Given the description of an element on the screen output the (x, y) to click on. 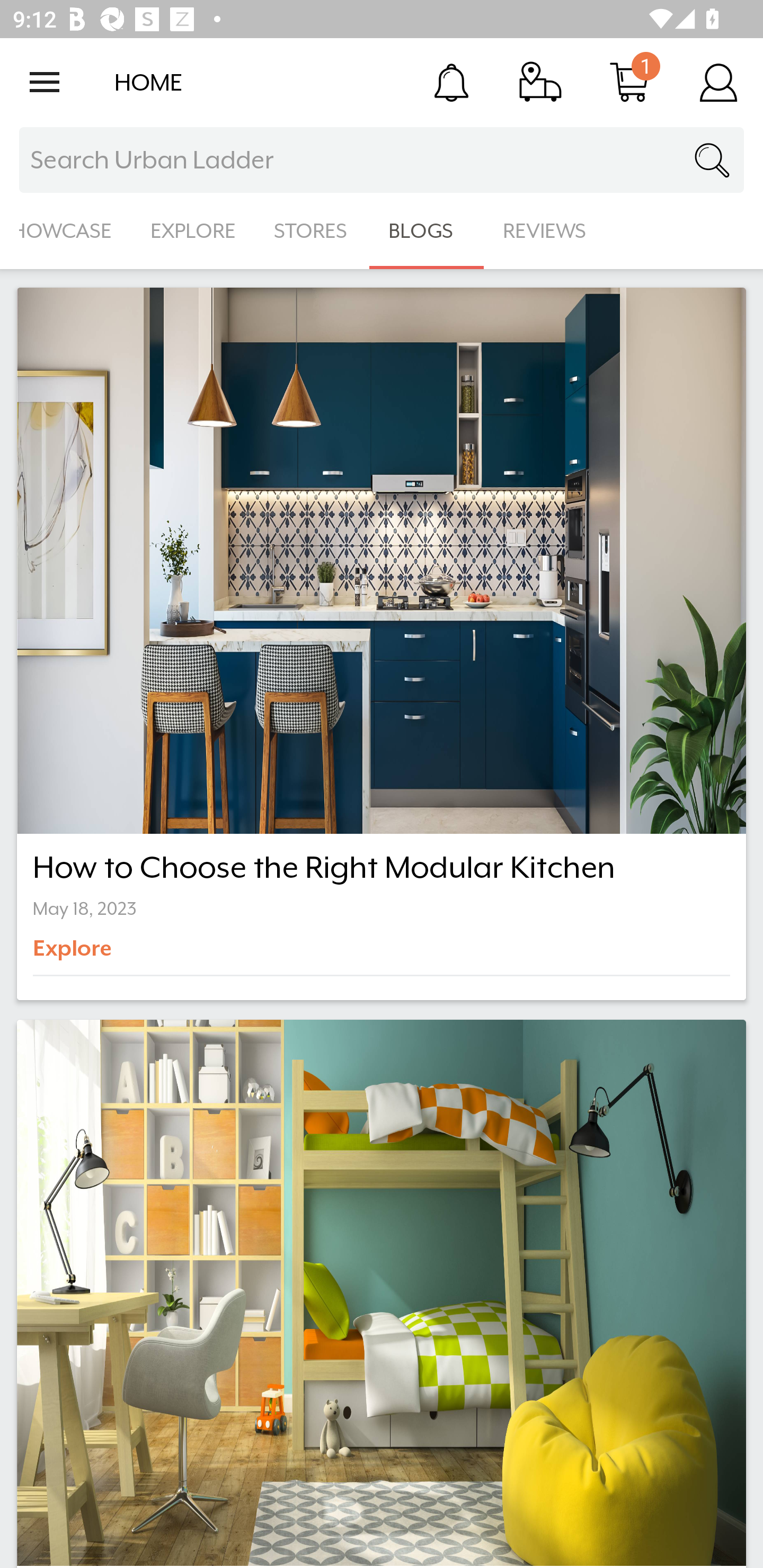
Open navigation drawer (44, 82)
Notification (450, 81)
Track Order (540, 81)
Cart (629, 81)
Account Details (718, 81)
Search Urban Ladder  (381, 159)
SHOWCASE (65, 230)
EXPLORE (192, 230)
STORES (311, 230)
BLOGS (426, 230)
REVIEWS (544, 230)
Explore (102, 954)
